Given the description of an element on the screen output the (x, y) to click on. 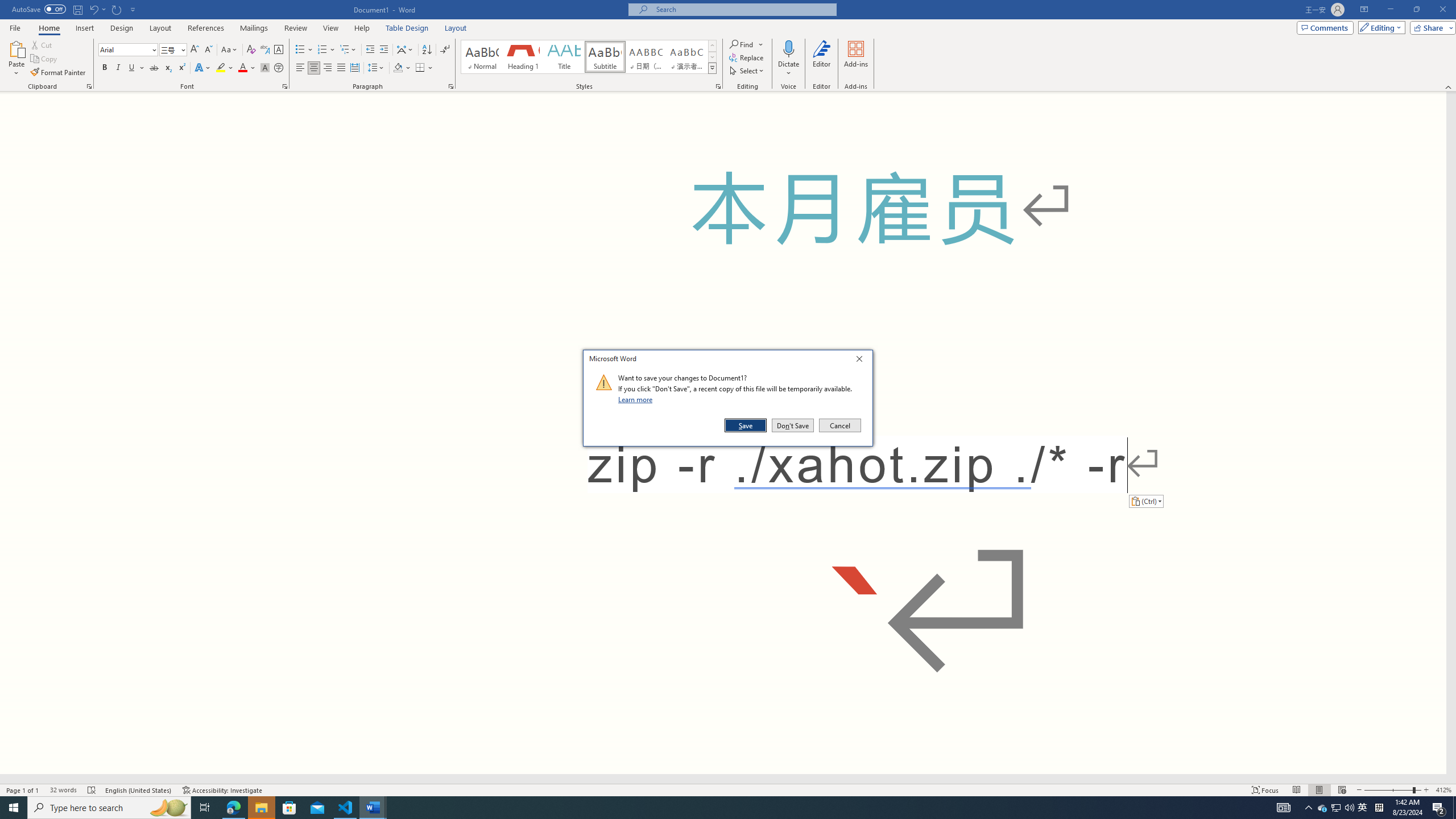
Center (313, 67)
Format Painter (58, 72)
Enclose Characters... (278, 67)
Shading (402, 67)
Shrink Font (208, 49)
Strikethrough (154, 67)
Repeat Paste (117, 9)
Styles (711, 67)
